Given the description of an element on the screen output the (x, y) to click on. 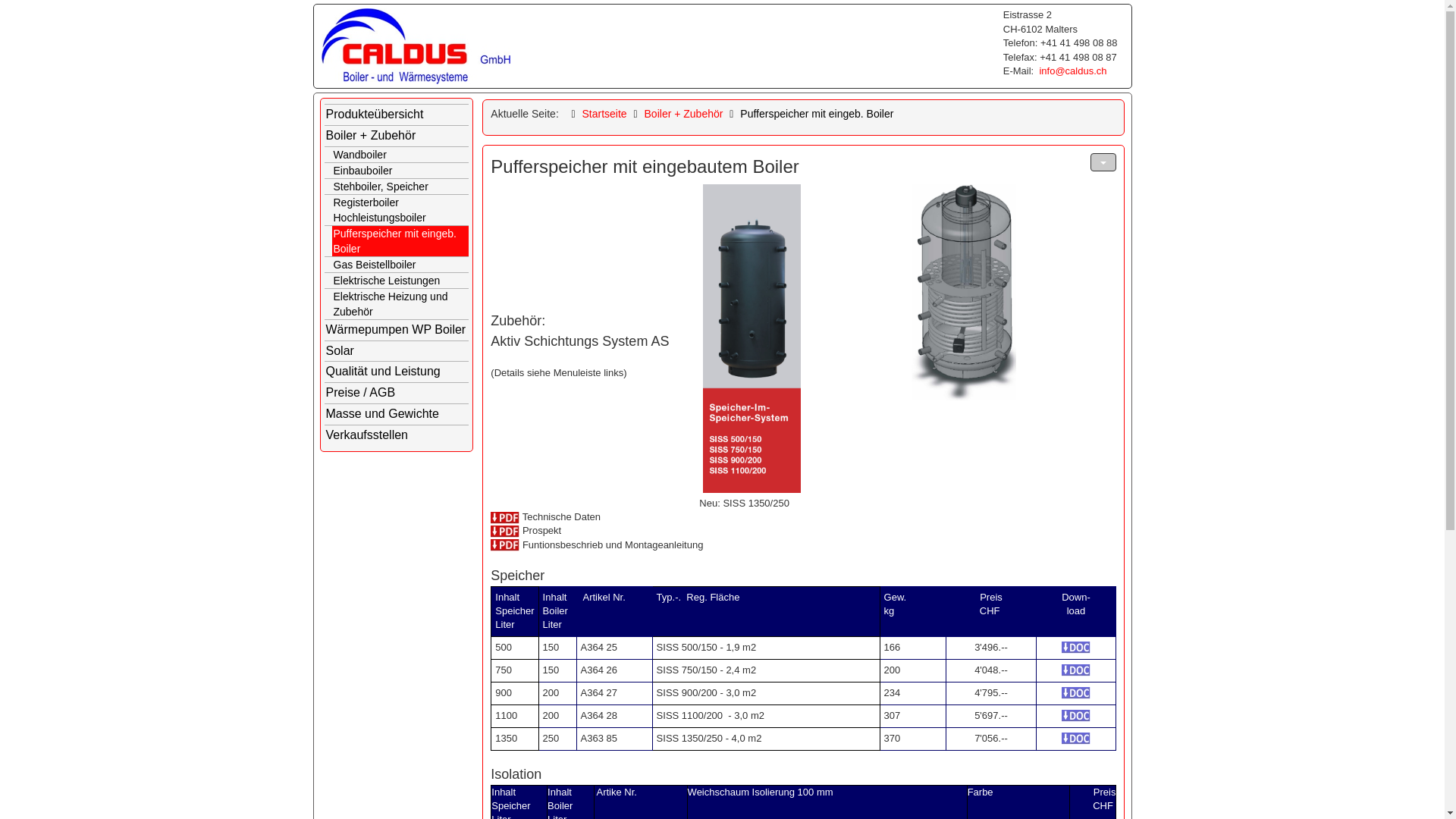
Registerboiler Hochleistungsboiler Element type: text (400, 209)
solarspeicher_grafik Element type: hover (963, 292)
Einbauboiler Element type: text (400, 170)
Masse und Gewichte Element type: text (396, 414)
Solar Element type: text (396, 351)
Verkaufsstellen Element type: text (396, 435)
Elektrische Leistungen Element type: text (400, 280)
Gas Beistellboiler Element type: text (400, 264)
Stehboiler, Speicher Element type: text (400, 186)
info@caldus.ch Element type: text (1072, 70)
montageanleitung_siss-500-1100 Element type: hover (504, 544)
bild_solarspeicher Element type: hover (751, 338)
prosp solarsp_m_eingeb_boiler Element type: hover (504, 530)
Preise / AGB Element type: text (396, 392)
Startseite Element type: text (603, 113)
techn.solarsp m_eingeb_boiler Element type: hover (504, 516)
Pufferspeicher mit eingeb. Boiler Element type: text (400, 240)
Wandboiler Element type: text (400, 154)
